Given the description of an element on the screen output the (x, y) to click on. 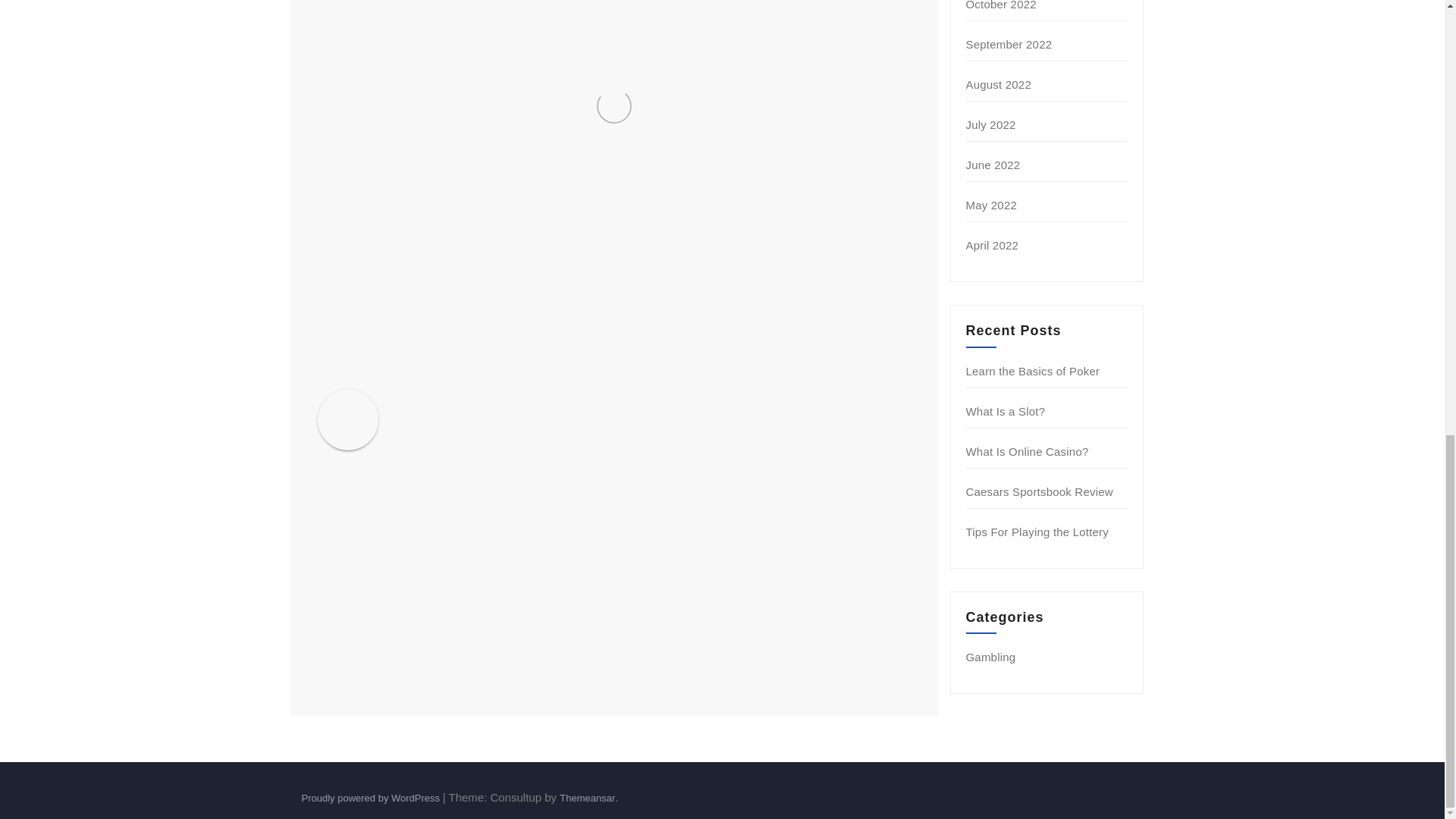
What Is Online Casino? (1027, 451)
Admin (464, 401)
May 2022 (991, 205)
October 2022 (1001, 5)
Learn the Basics of Poker (1033, 370)
Tips For Playing the Lottery (1037, 531)
Gambling (991, 656)
Proudly powered by WordPress (371, 797)
Caesars Sportsbook Review (1039, 491)
June 2022 (993, 164)
August 2022 (998, 83)
July 2022 (991, 124)
April 2022 (992, 245)
September 2022 (1009, 43)
What Is a Slot? (1005, 410)
